Given the description of an element on the screen output the (x, y) to click on. 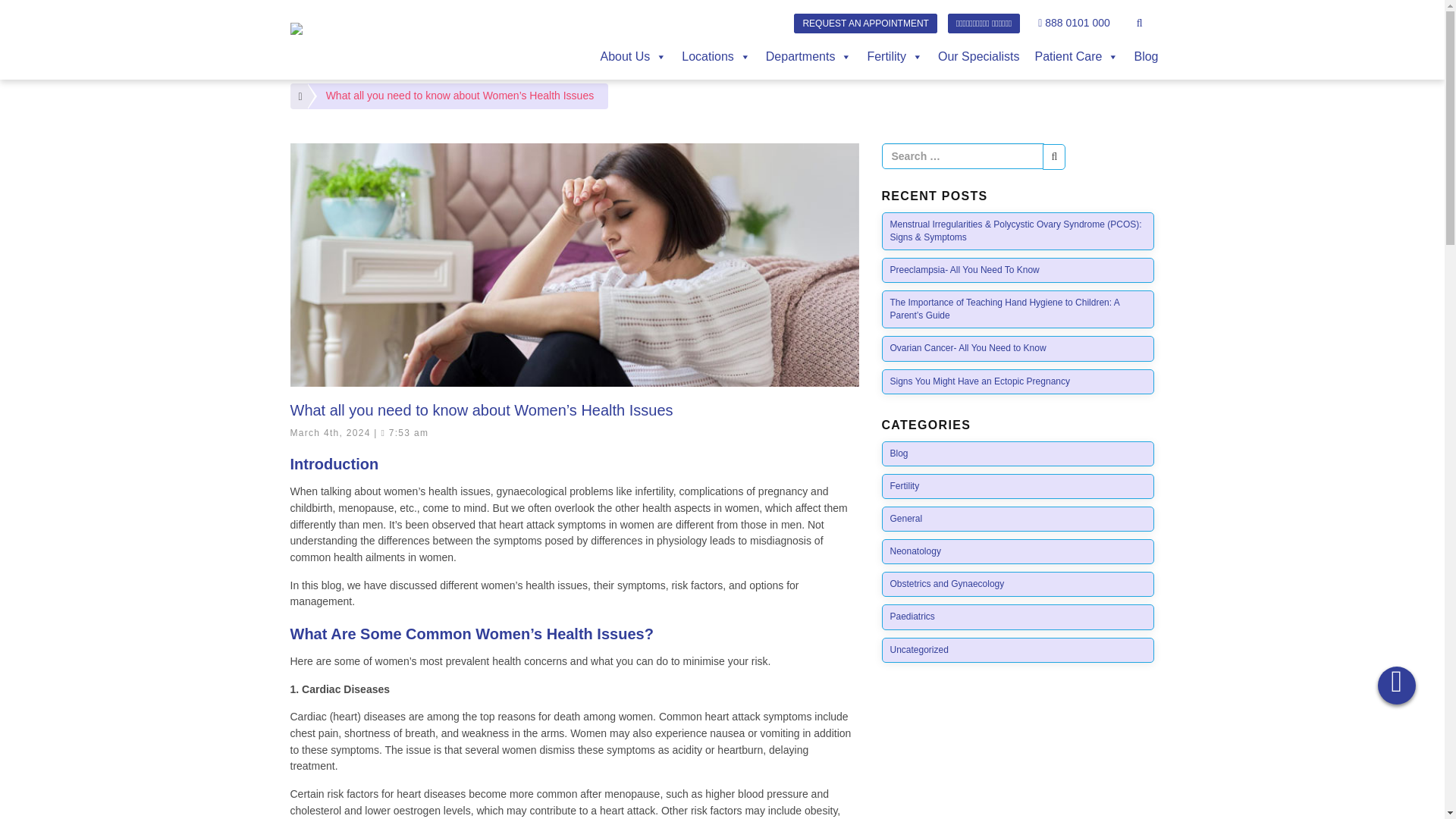
scroll to top (1396, 685)
About Us (633, 56)
Locations (716, 56)
Departments (809, 56)
